Given the description of an element on the screen output the (x, y) to click on. 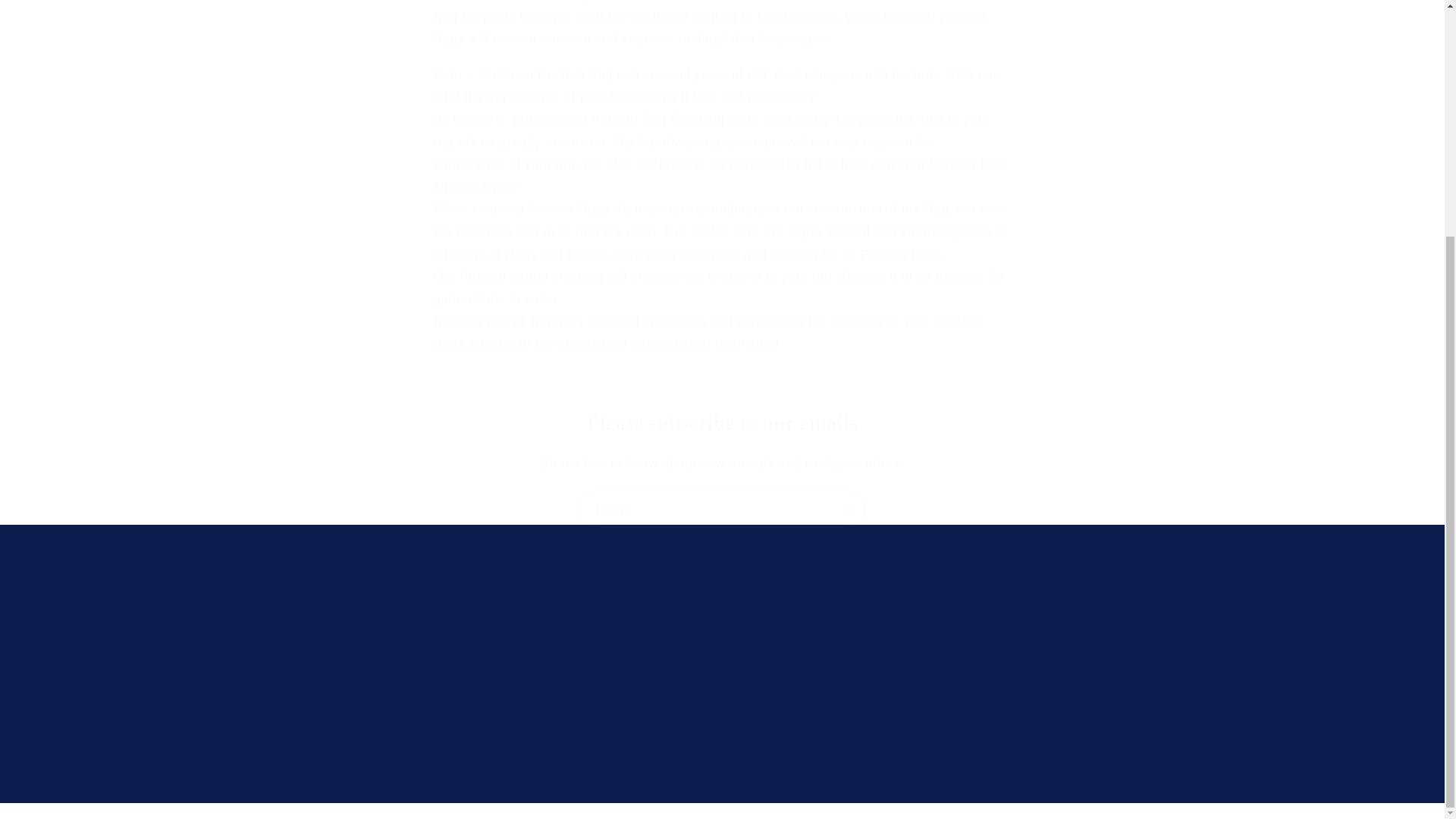
Rug Cleaning (320, 700)
About Us (308, 673)
Email (722, 508)
Search (302, 620)
Rug Talk (307, 646)
Consignment (319, 728)
Flying Carpets (695, 809)
Powered by Shopify (774, 809)
Please subscribe to our emails (722, 423)
